Given the description of an element on the screen output the (x, y) to click on. 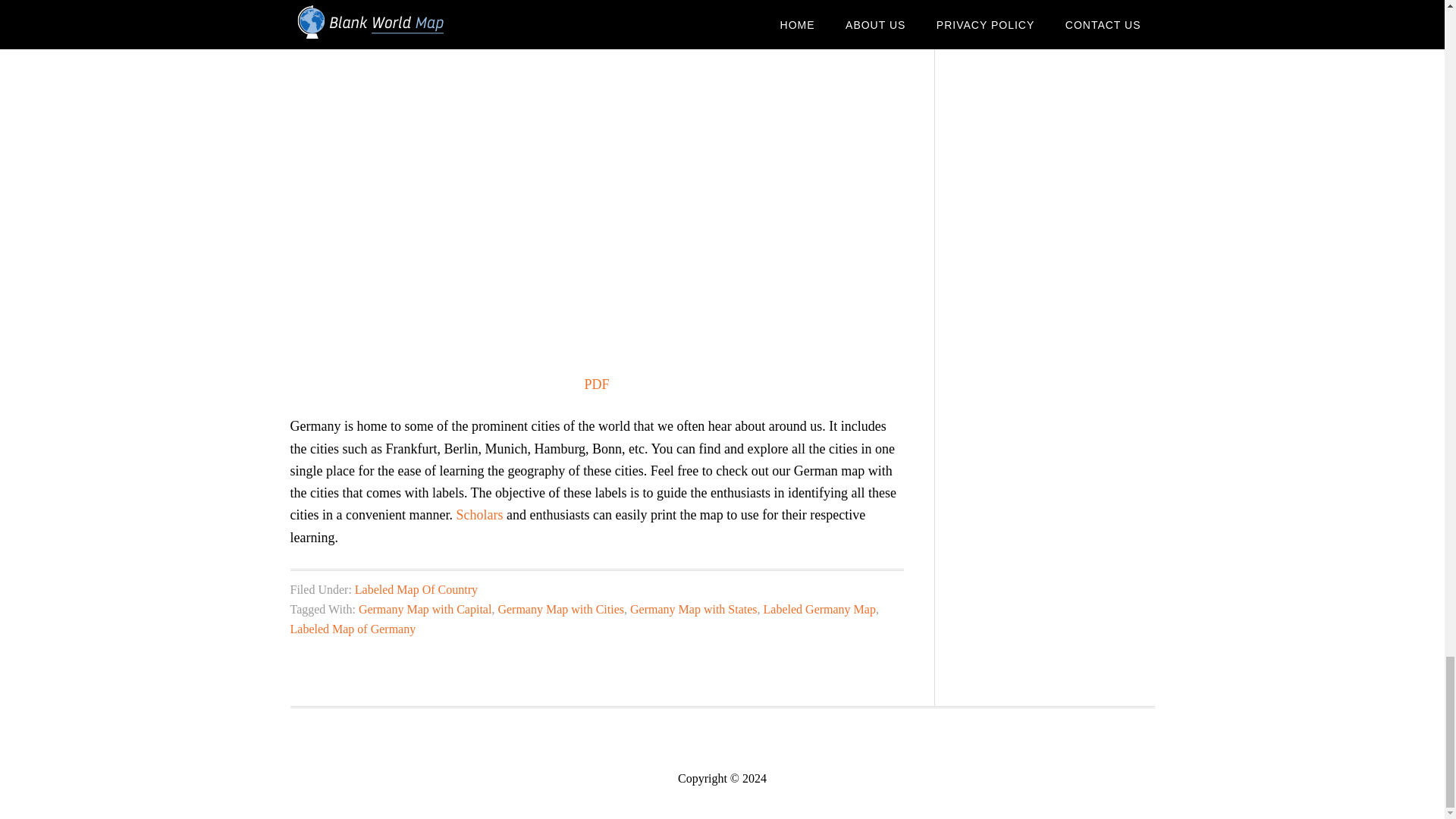
Germany Map with Capital (425, 608)
Labeled Map Of Country (416, 589)
Germany Map with Cities (560, 608)
Labeled Germany Map (819, 608)
Scholars (478, 514)
Germany Map with States (693, 608)
Labeled Map of Germany (351, 628)
PDF (595, 384)
